Given the description of an element on the screen output the (x, y) to click on. 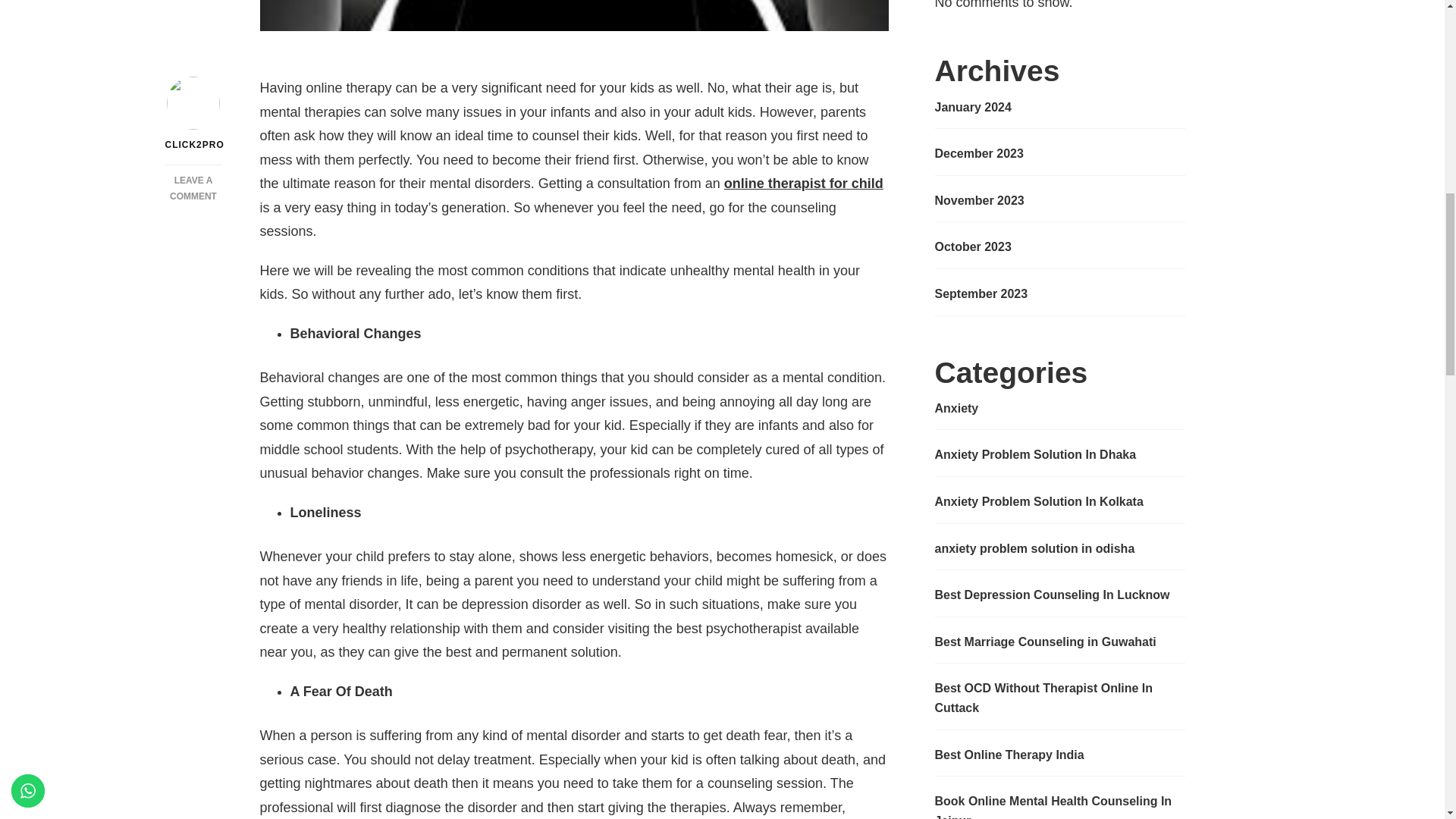
December 2023 (978, 153)
January 2024 (972, 107)
online therapist for child (803, 183)
